Given the description of an element on the screen output the (x, y) to click on. 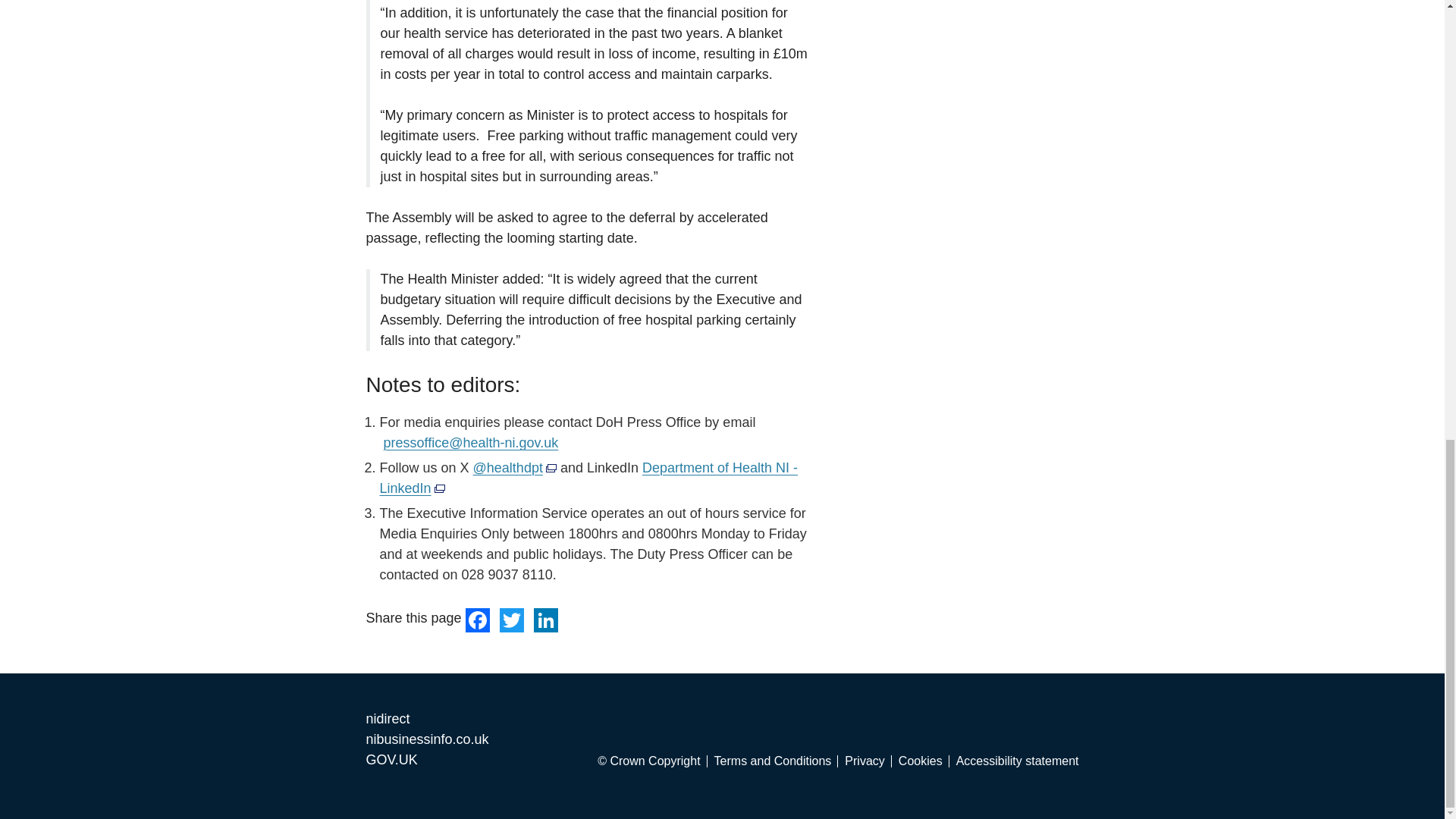
GOV.UK (390, 759)
Accessibility statement (1017, 761)
Facebook (479, 619)
nibusinessinfo.co.uk (426, 739)
Privacy (867, 761)
Terms and Conditions (776, 761)
LinkedIn (545, 619)
Twitter (511, 619)
Cookies (923, 761)
nidirect (387, 718)
